Given the description of an element on the screen output the (x, y) to click on. 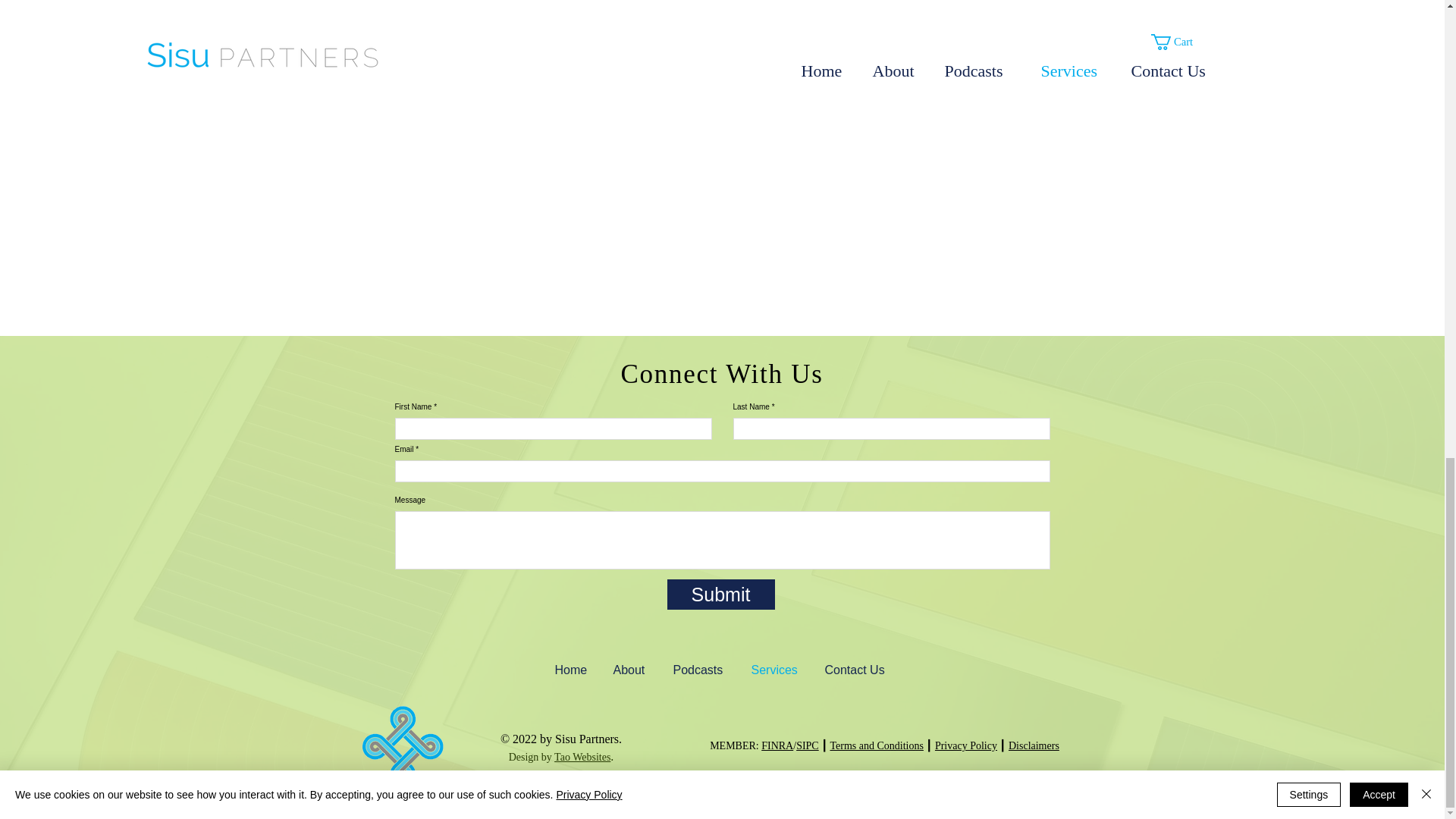
Podcasts (700, 670)
Home (572, 670)
Services (776, 670)
About (632, 670)
Submit (720, 594)
Disclaimers (1034, 745)
Contact Us (856, 670)
Privacy Policy (965, 745)
Tao Websites (582, 756)
FINRA (777, 745)
